Given the description of an element on the screen output the (x, y) to click on. 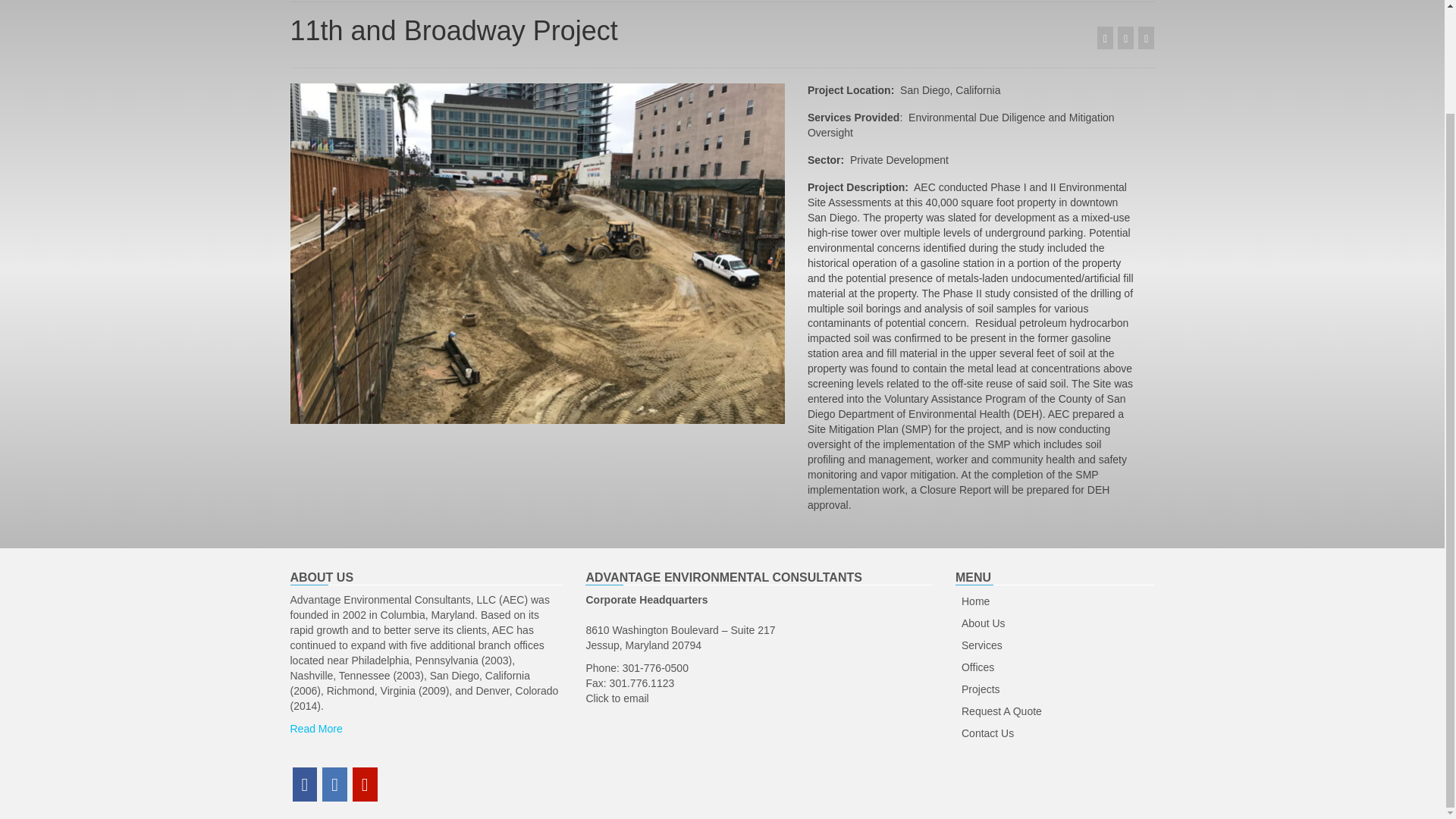
Click to email (616, 698)
Services (1054, 646)
Read More (315, 728)
About Us (1054, 624)
301-776-0500 (655, 667)
Offices (1054, 668)
Home (1054, 601)
